Given the description of an element on the screen output the (x, y) to click on. 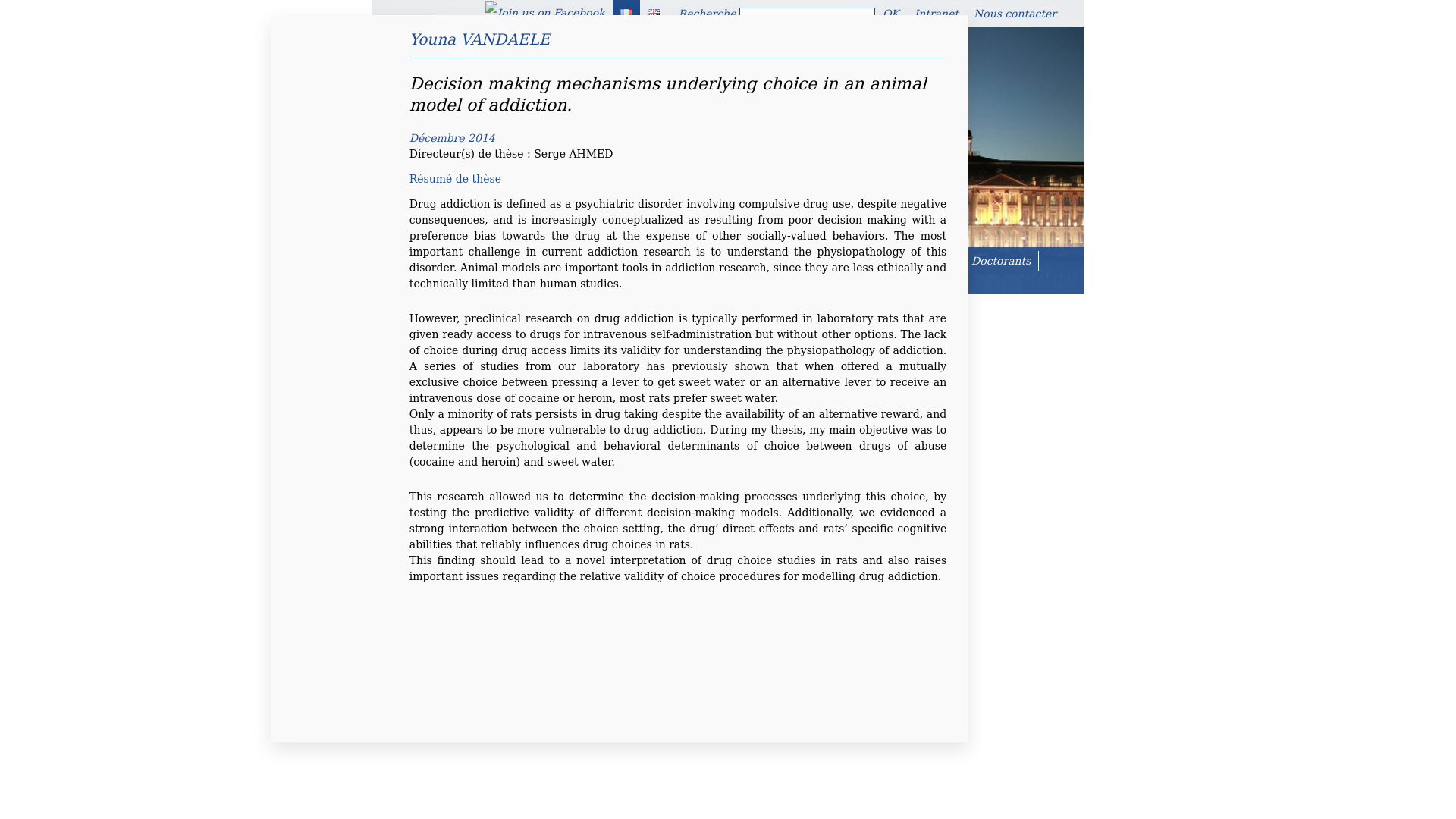
Close (923, 38)
Intranet (936, 13)
OK (891, 13)
English (653, 13)
Equipes (592, 260)
Diffusion de la science (443, 280)
Recherche clinique (762, 260)
Plateformes (662, 260)
Doctorants (1000, 260)
Accueil (402, 260)
Nous contacter (1015, 13)
Partenaires (550, 280)
